Given the description of an element on the screen output the (x, y) to click on. 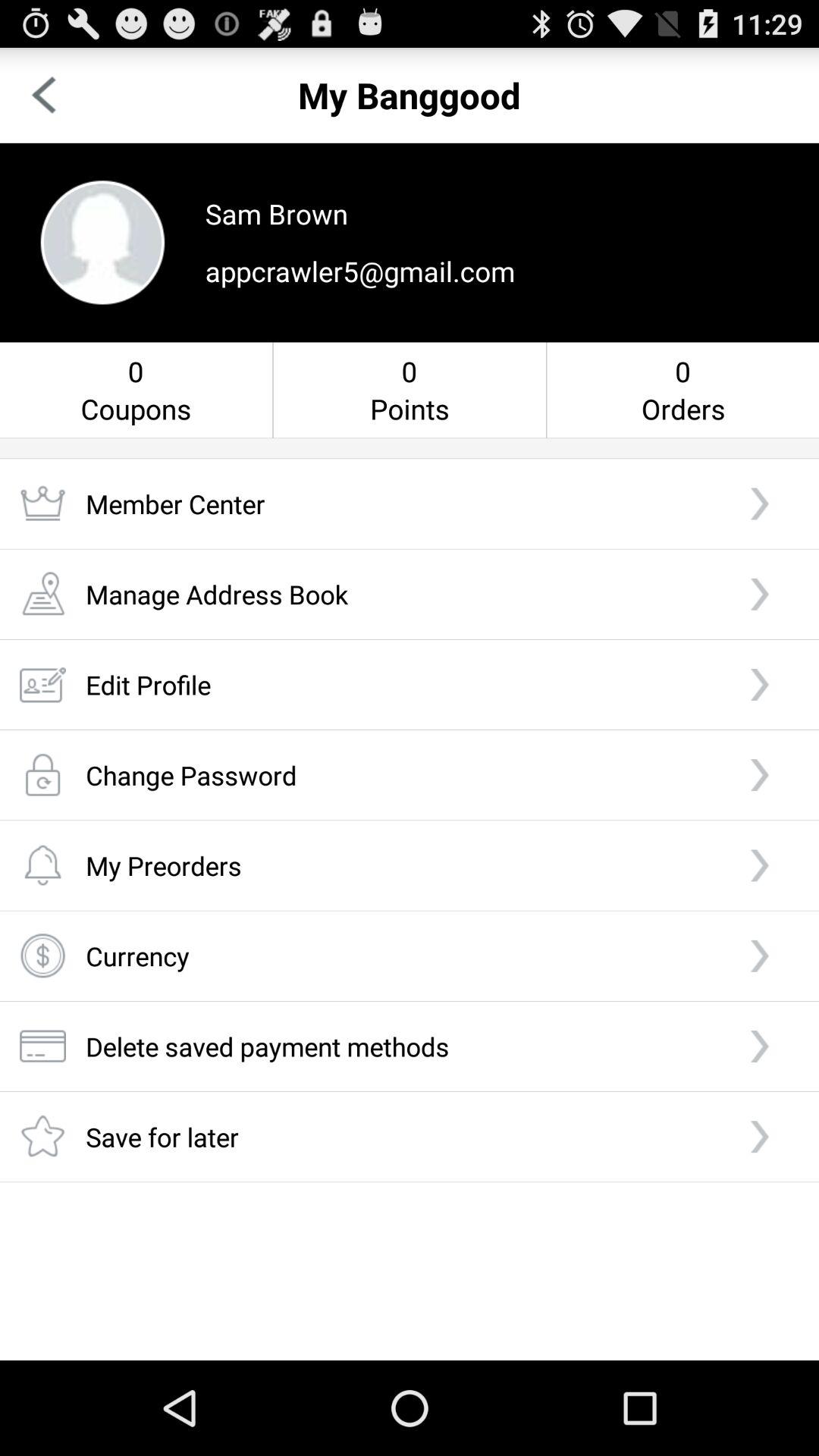
go back (43, 95)
